Given the description of an element on the screen output the (x, y) to click on. 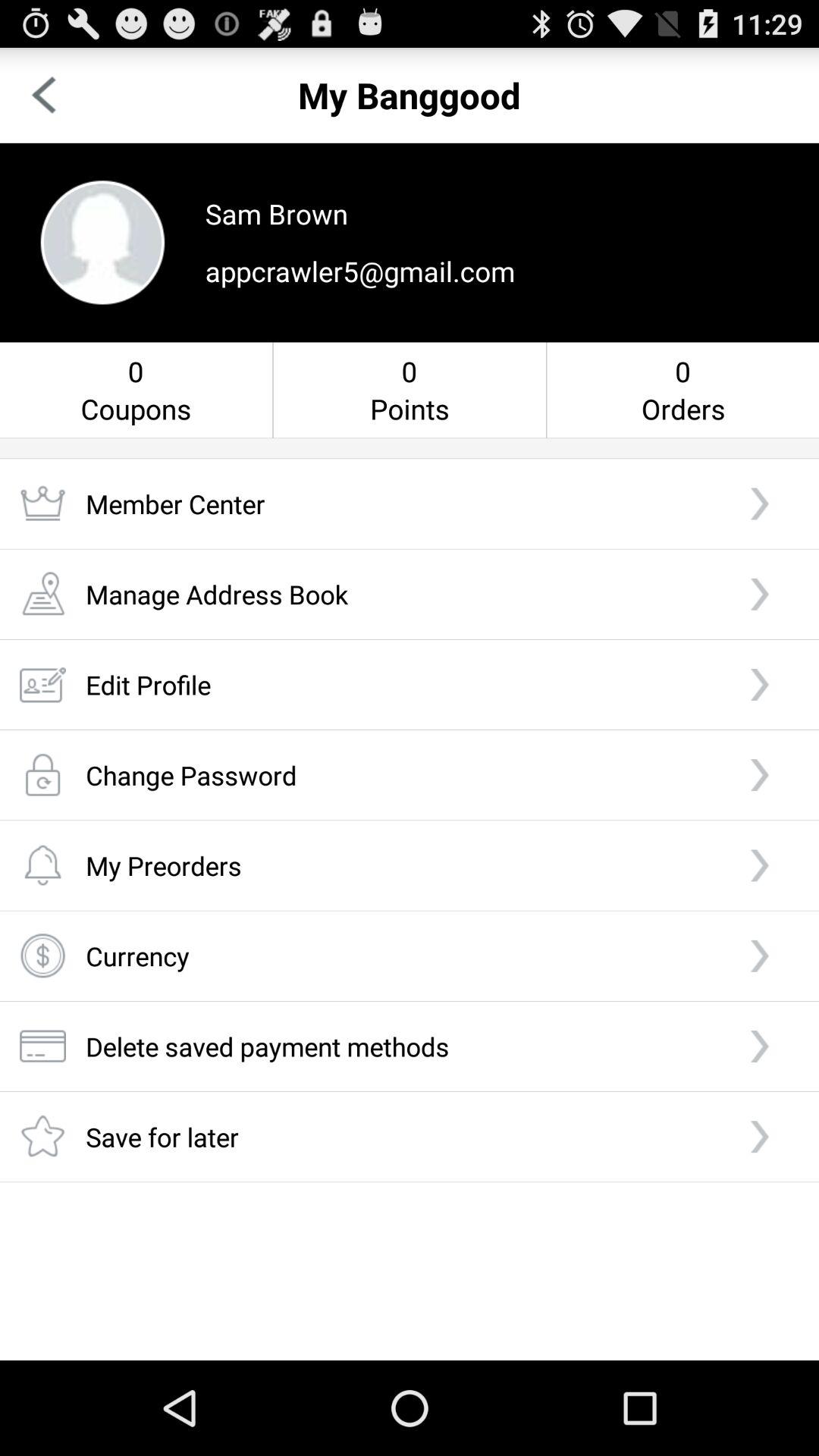
go back (43, 95)
